Given the description of an element on the screen output the (x, y) to click on. 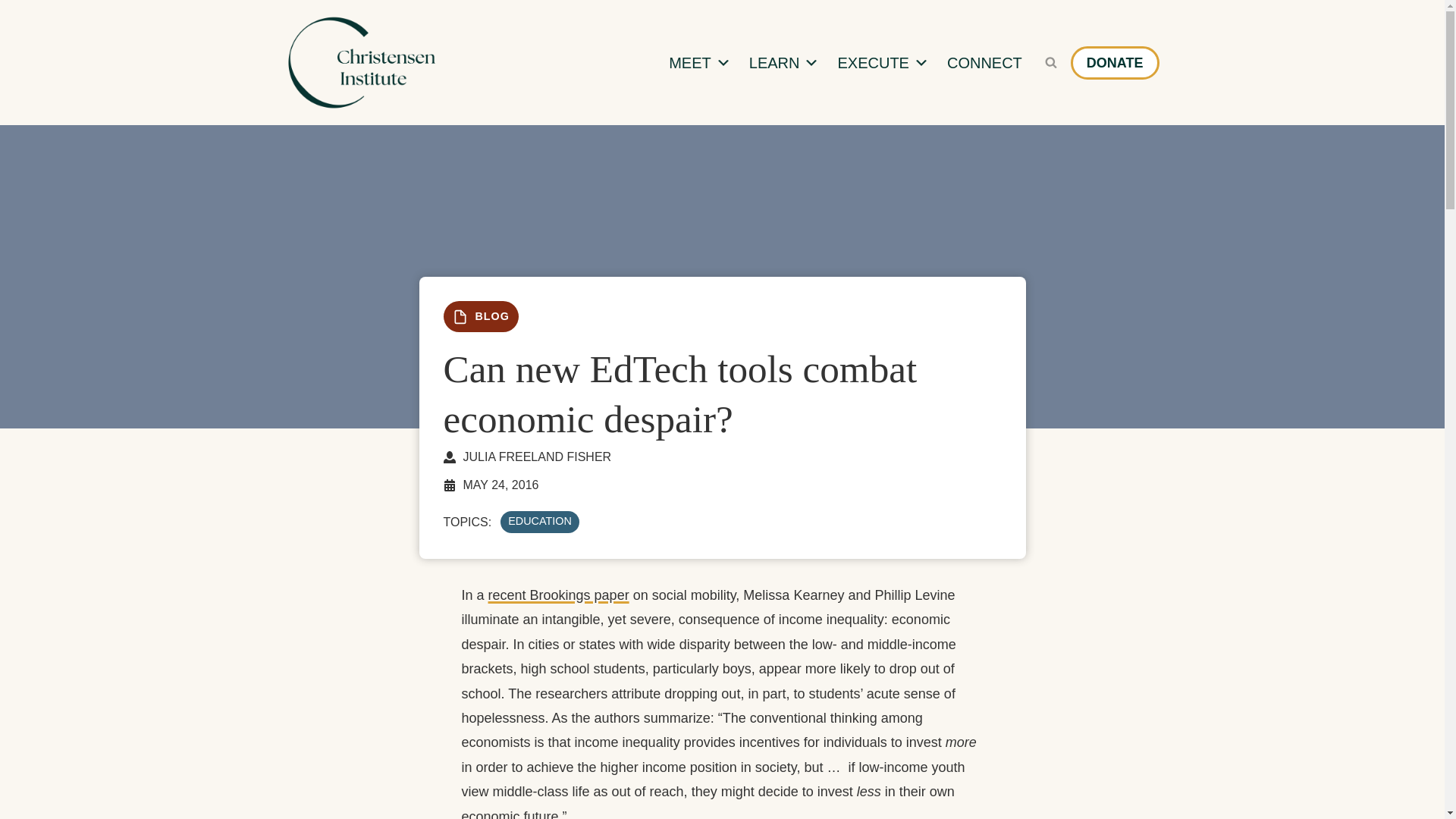
DONATE (1114, 61)
LEARN (783, 62)
recent Brookings paper (557, 595)
MEET (699, 62)
CONNECT (983, 62)
EXECUTE (882, 62)
EDUCATION (540, 521)
